Given the description of an element on the screen output the (x, y) to click on. 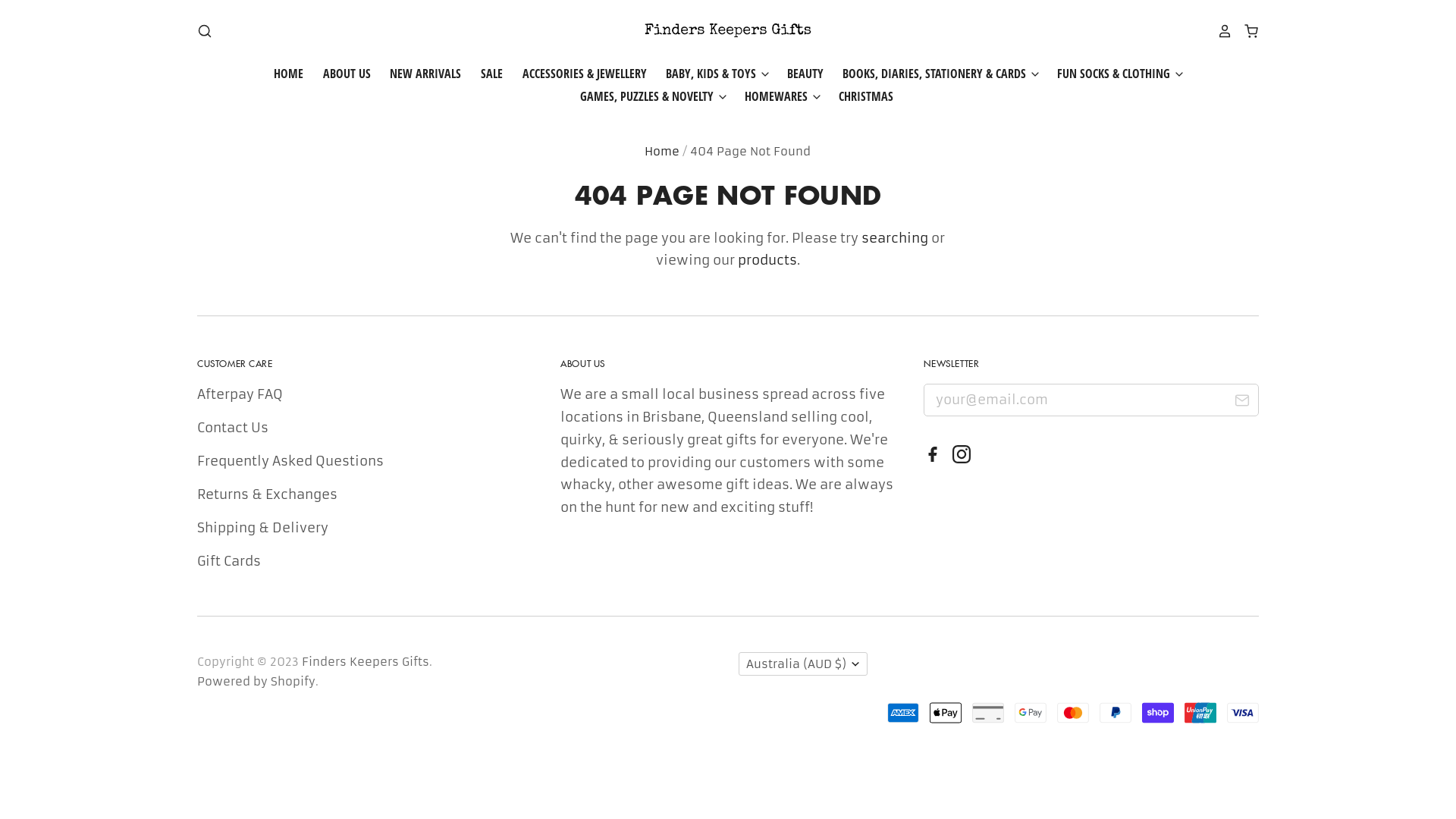
Shipping & Delivery Element type: text (262, 527)
ACCESSORIES & JEWELLERY Element type: text (575, 73)
CHRISTMAS Element type: text (857, 95)
NEW ARRIVALS Element type: text (416, 73)
SALE Element type: text (482, 73)
Powered by Shopify Element type: text (256, 681)
Afterpay FAQ Element type: text (239, 393)
BEAUTY Element type: text (796, 73)
products Element type: text (767, 259)
Home Element type: text (661, 151)
Frequently Asked Questions Element type: text (290, 460)
Finders Keepers Gifts Element type: text (365, 661)
Gift Cards Element type: text (228, 560)
Australia (AUD $) Element type: text (802, 663)
searching Element type: text (894, 237)
HOME Element type: text (288, 73)
Contact Us Element type: text (232, 427)
Returns & Exchanges Element type: text (267, 494)
ABOUT US Element type: text (337, 73)
